Given the description of an element on the screen output the (x, y) to click on. 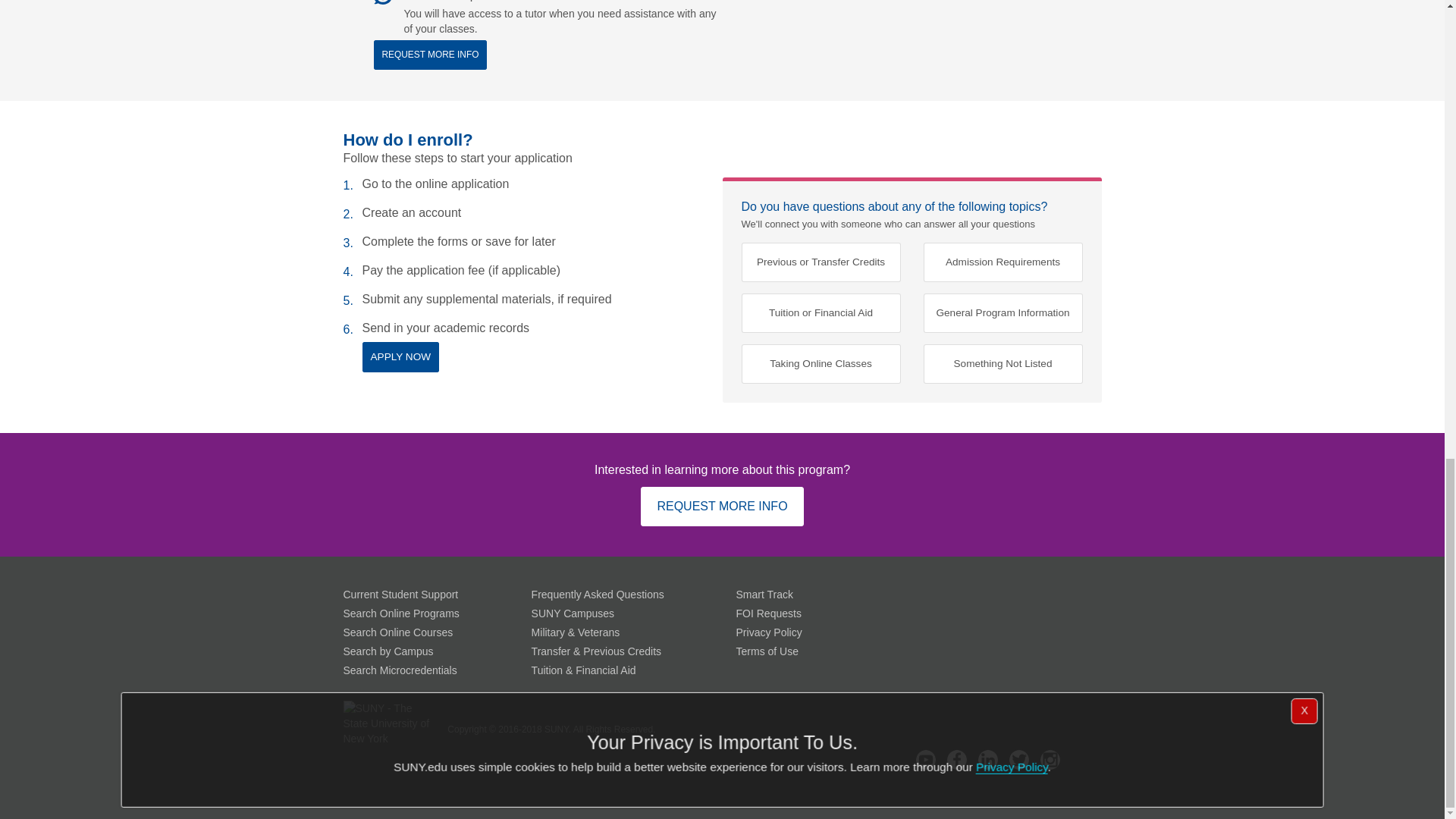
Ask SUNY about General Program Information (1003, 312)
Information about SUNY Online tuition and financial aid (583, 670)
Something Not Listed (1003, 363)
Tuition or Financial Aid (821, 312)
REQUEST MORE INFO (721, 506)
Taking Online Classes (821, 363)
Search by Campus (387, 651)
Search SUNY Microcredentials (399, 670)
Ask SUNY about Previous or Transfer Credits (821, 261)
Resource for current SUNY Online students (400, 594)
APPLY NOW (400, 356)
